Given the description of an element on the screen output the (x, y) to click on. 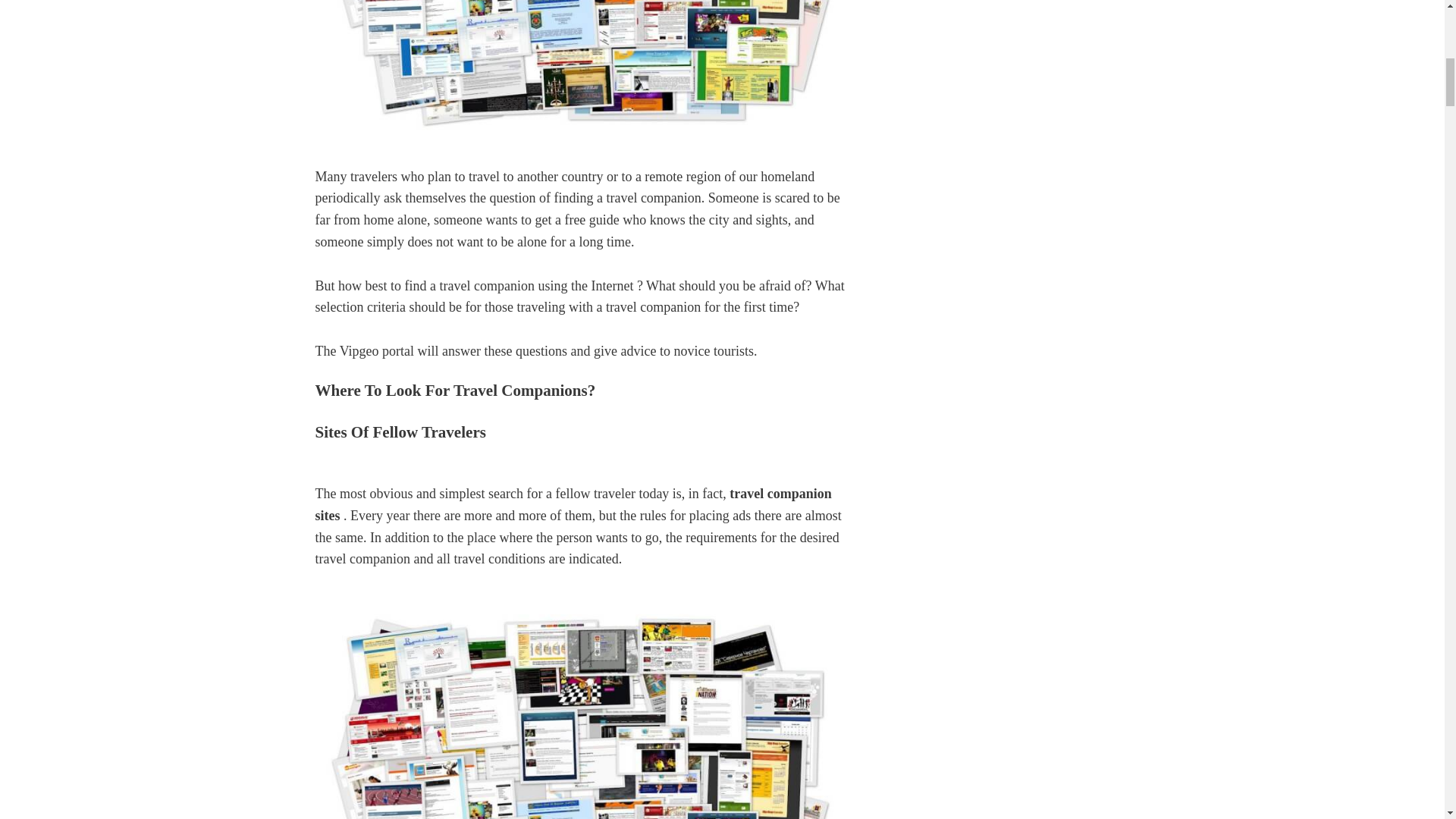
Traveling Sites (581, 711)
